Given the description of an element on the screen output the (x, y) to click on. 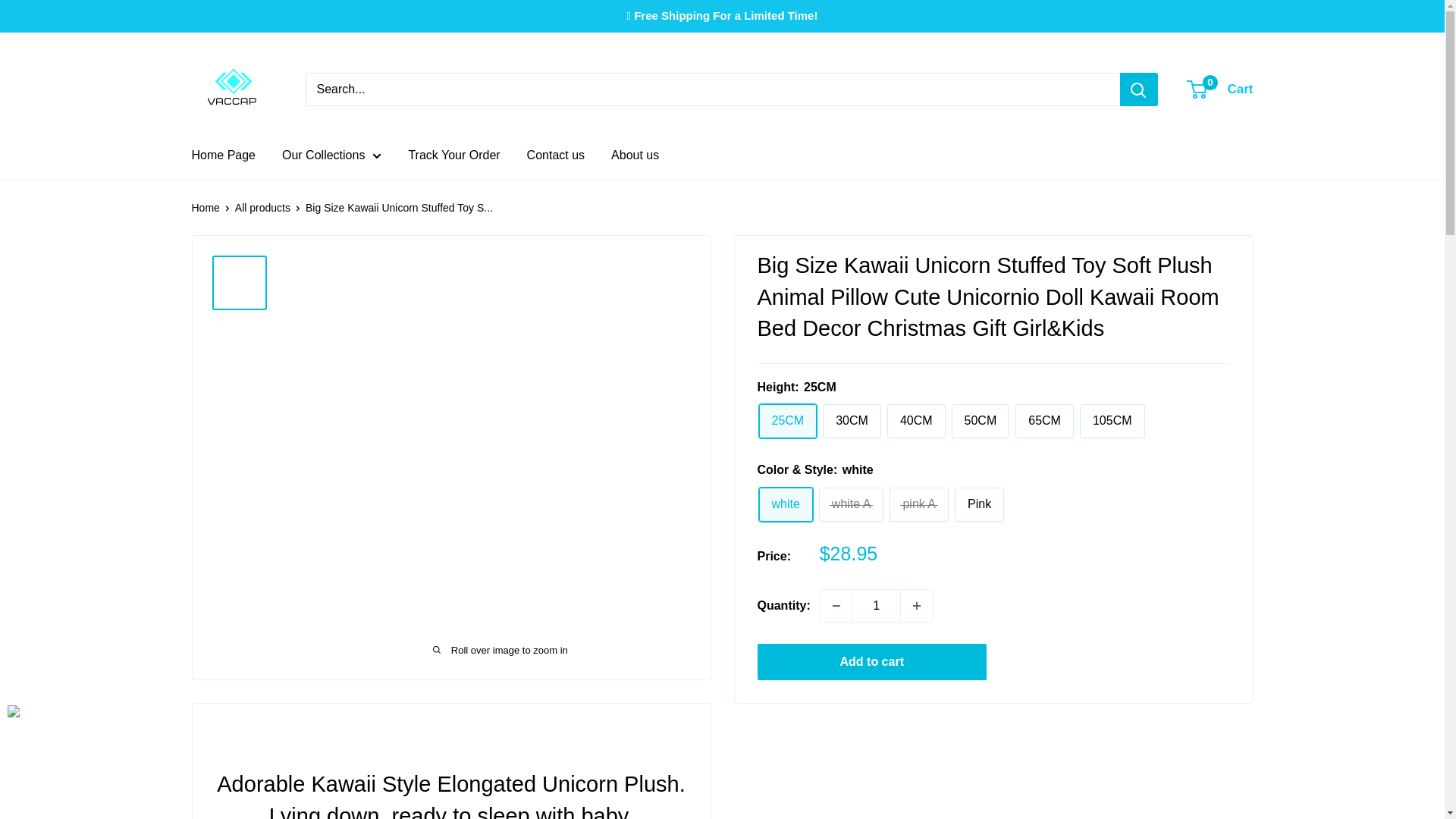
40CM (915, 421)
105CM (1112, 421)
white (785, 504)
Decrease quantity by 1 (836, 605)
65CM (1044, 421)
white A (850, 504)
Pink (979, 504)
Home Page (223, 155)
Increase quantity by 1 (917, 605)
25CM (787, 421)
1 (876, 605)
50CM (981, 421)
pink A (919, 504)
Our Collections (331, 155)
